Given the description of an element on the screen output the (x, y) to click on. 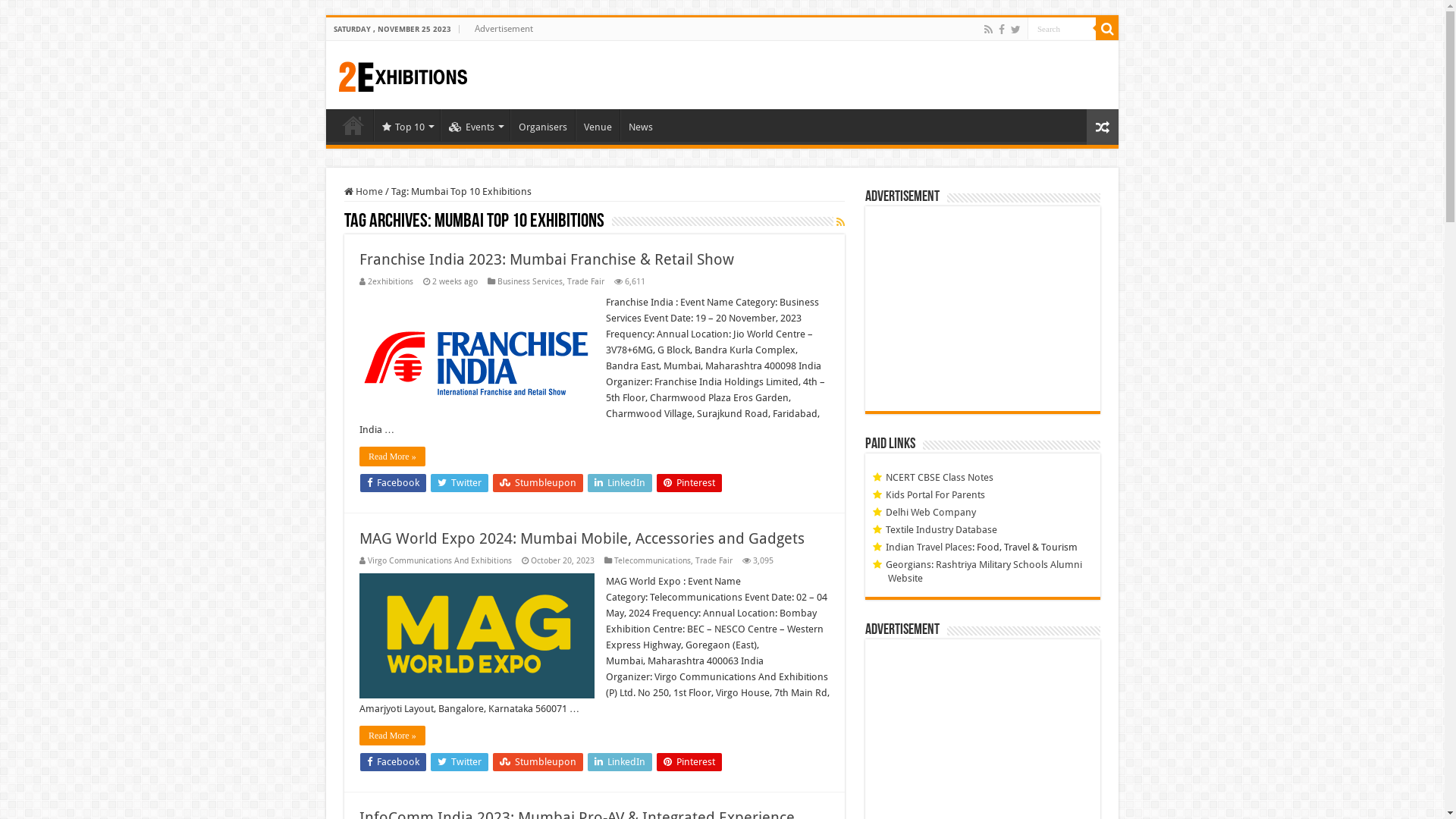
Stumbleupon Element type: text (537, 482)
Home Element type: text (353, 125)
Virgo Communications And Exhibitions Element type: text (439, 560)
Rss Element type: hover (988, 29)
Facebook Element type: hover (1001, 29)
Events Element type: text (474, 125)
Top 10 Element type: text (406, 125)
World Exhibitions Element type: hover (403, 74)
Advertisement Element type: hover (982, 308)
2exhibitions Element type: text (390, 281)
Search Element type: text (1106, 28)
Twitter Element type: text (459, 482)
Home Element type: text (363, 191)
Twitter Element type: text (459, 762)
Facebook Element type: text (393, 482)
News Element type: text (640, 125)
Advertisement Element type: text (503, 28)
NCERT CBSE Class Notes Element type: text (939, 477)
Organisers Element type: text (542, 125)
Kids Portal For Parents Element type: text (935, 494)
LinkedIn Element type: text (619, 762)
Venue Element type: text (597, 125)
Pinterest Element type: text (688, 762)
Georgians: Rashtriya Military Schools Alumni Website Element type: text (983, 570)
Franchise India 2023: Mumbai Franchise & Retail Show Element type: text (546, 259)
Trade Fair Element type: text (585, 281)
Feed Subscription Element type: hover (840, 222)
Indian Travel Places Element type: text (928, 546)
Twitter Element type: hover (1015, 29)
Delhi Web Company Element type: text (930, 511)
Facebook Element type: text (393, 762)
LinkedIn Element type: text (619, 482)
Stumbleupon Element type: text (537, 762)
Pinterest Element type: text (688, 482)
Trade Fair Element type: text (713, 560)
Telecommunications Element type: text (652, 560)
MAG World Expo 2024: Mumbai Mobile, Accessories and Gadgets Element type: text (581, 538)
Business Services Element type: text (529, 281)
Textile Industry Database Element type: text (941, 529)
Search Element type: hover (1061, 28)
